Given the description of an element on the screen output the (x, y) to click on. 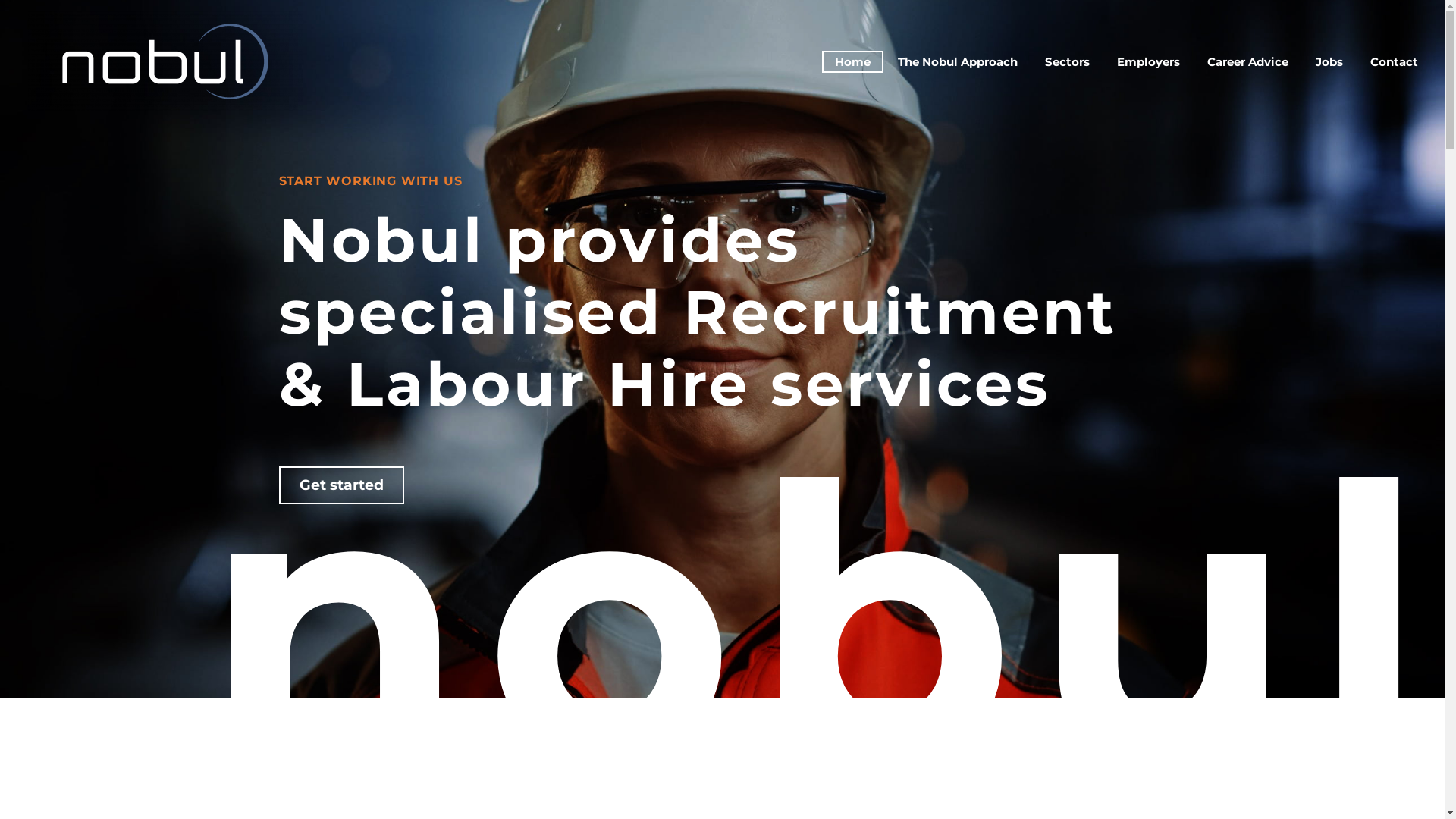
Career Advice Element type: text (1247, 60)
Get started Element type: text (341, 485)
The Nobul Approach Element type: text (957, 60)
Sectors Element type: text (1067, 60)
Contact Element type: text (1393, 60)
Jobs Element type: text (1329, 60)
Home Element type: text (852, 61)
Employers Element type: text (1148, 60)
